Given the description of an element on the screen output the (x, y) to click on. 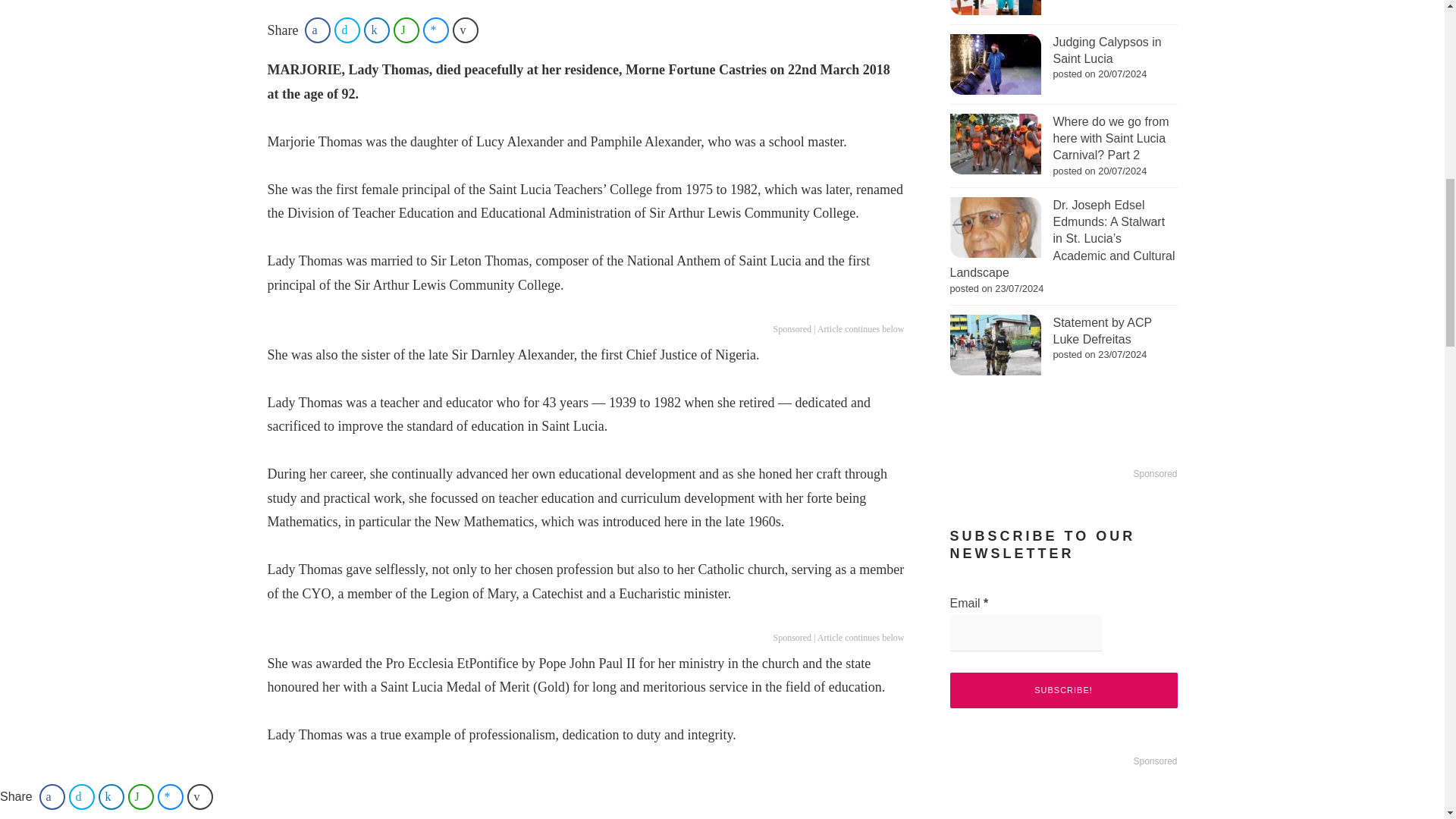
Share on WhatsApp (406, 30)
Share on Facebook (317, 30)
Share on LinkedIn (377, 30)
Share on Twitter (346, 30)
Share on Email (465, 30)
Share on Facebook Messenger (435, 30)
Subscribe! (1062, 690)
